Given the description of an element on the screen output the (x, y) to click on. 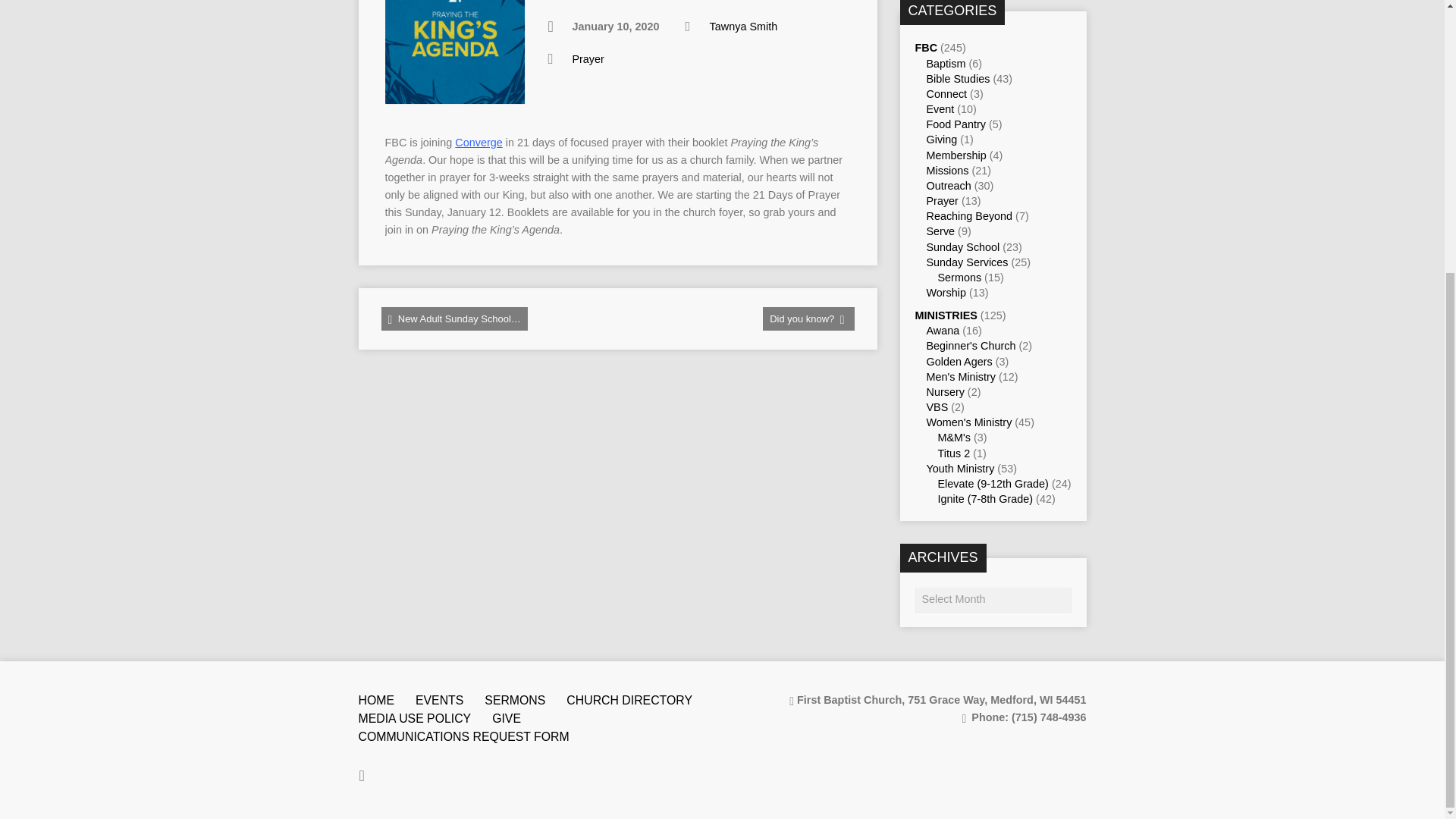
Converge (478, 142)
Prayer (588, 59)
Baptism (946, 63)
Did you know? (807, 318)
Tawnya Smith (743, 26)
FBC (925, 47)
